Given the description of an element on the screen output the (x, y) to click on. 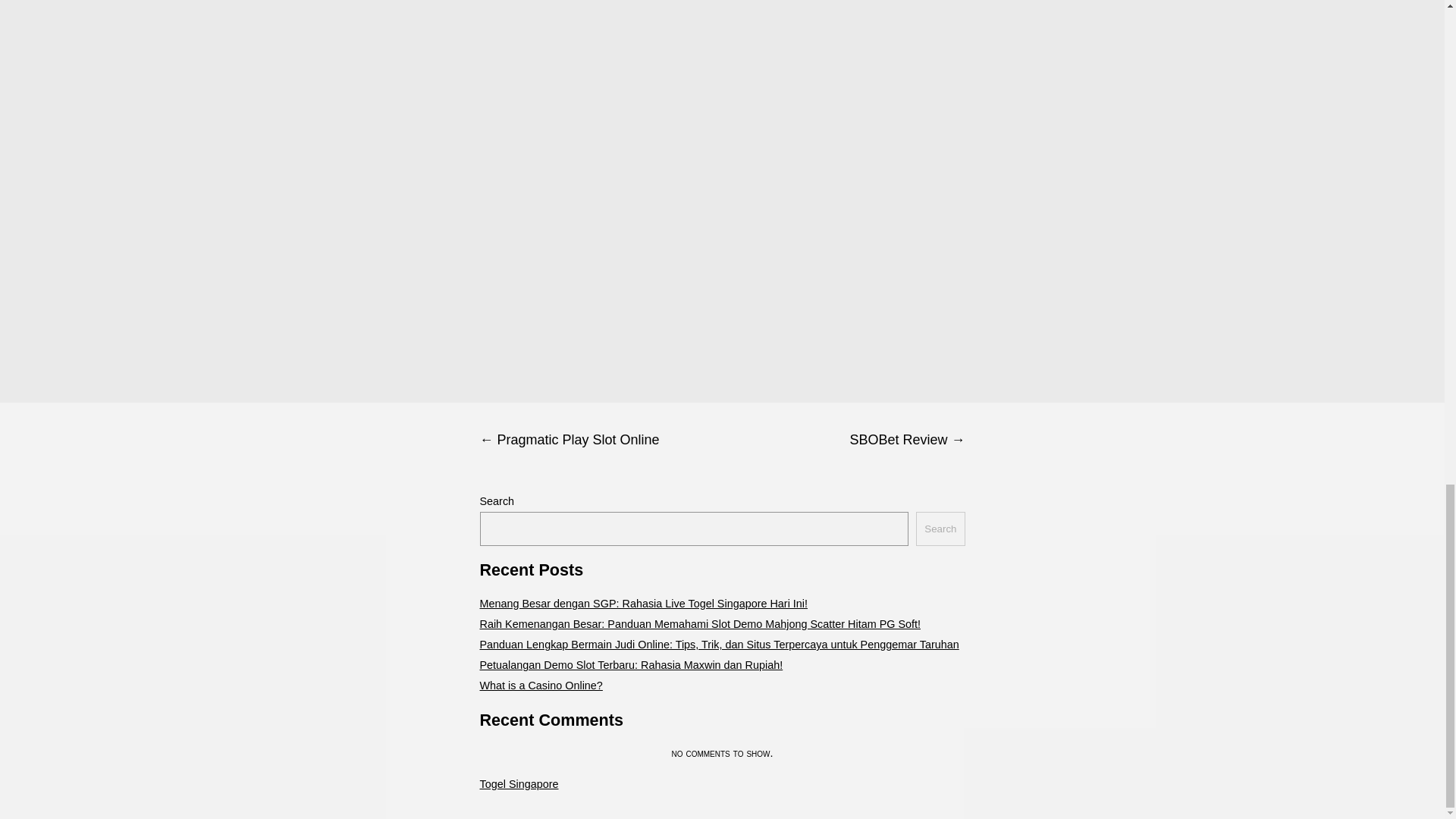
Petualangan Demo Slot Terbaru: Rahasia Maxwin dan Rupiah! (631, 664)
What is a Casino Online? (540, 685)
Pragmatic Play Slot Online (600, 439)
SBOBet Review (842, 439)
Togel Singapore (518, 784)
Search (939, 528)
